Given the description of an element on the screen output the (x, y) to click on. 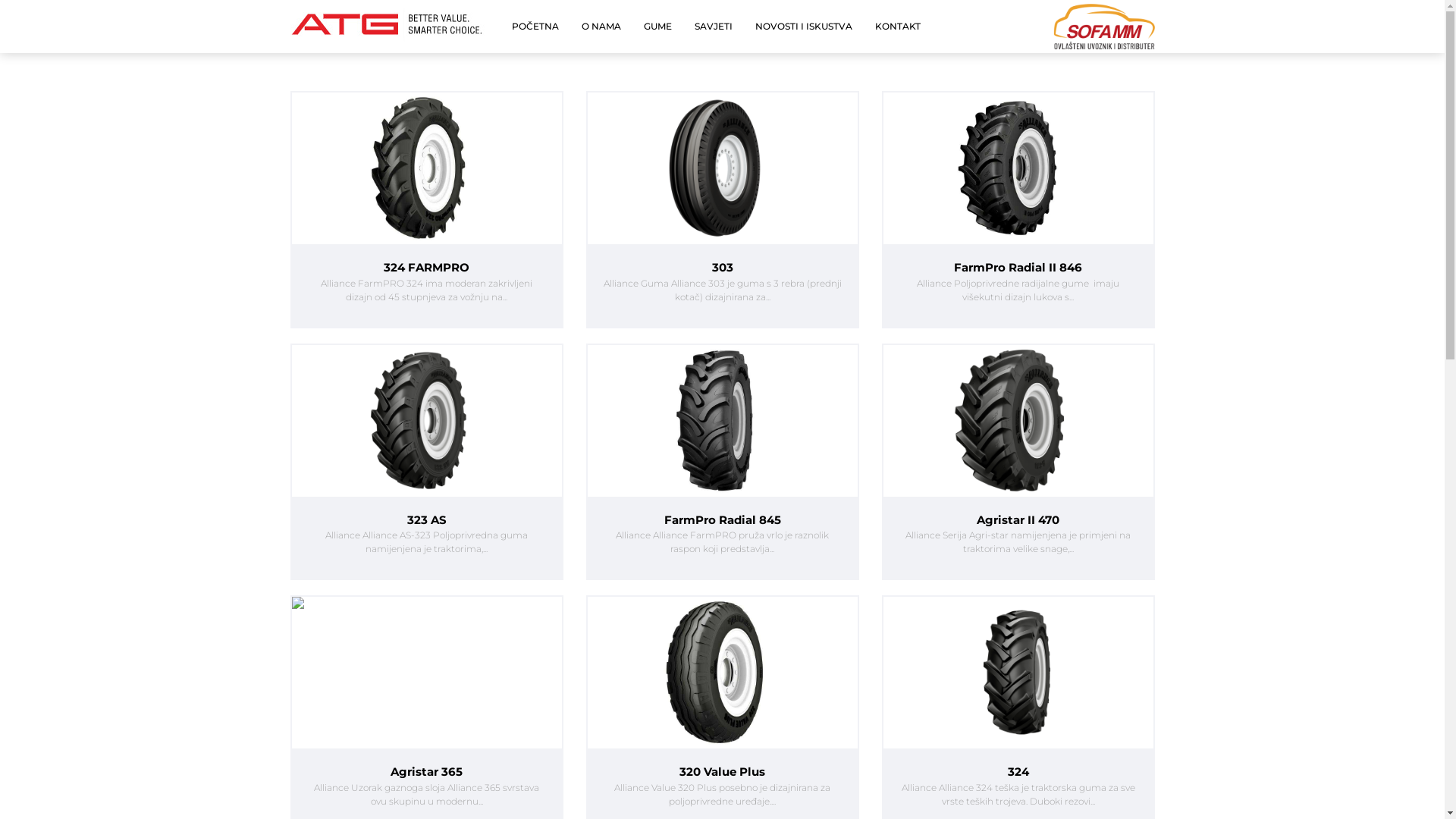
303 Element type: text (721, 267)
324 FARMPRO Element type: text (426, 267)
GUME Element type: text (657, 26)
323 AS Element type: text (426, 519)
NOVOSTI I ISKUSTVA Element type: text (803, 26)
324 Element type: text (1017, 772)
FarmPro Radial II 846 Element type: text (1017, 267)
Agristar 365 Element type: text (426, 772)
O NAMA Element type: text (601, 26)
FarmPro Radial 845 Element type: text (721, 519)
SAVJETI Element type: text (713, 26)
320 Value Plus Element type: text (721, 772)
KONTAKT Element type: text (897, 26)
Agristar II 470 Element type: text (1017, 519)
